Given the description of an element on the screen output the (x, y) to click on. 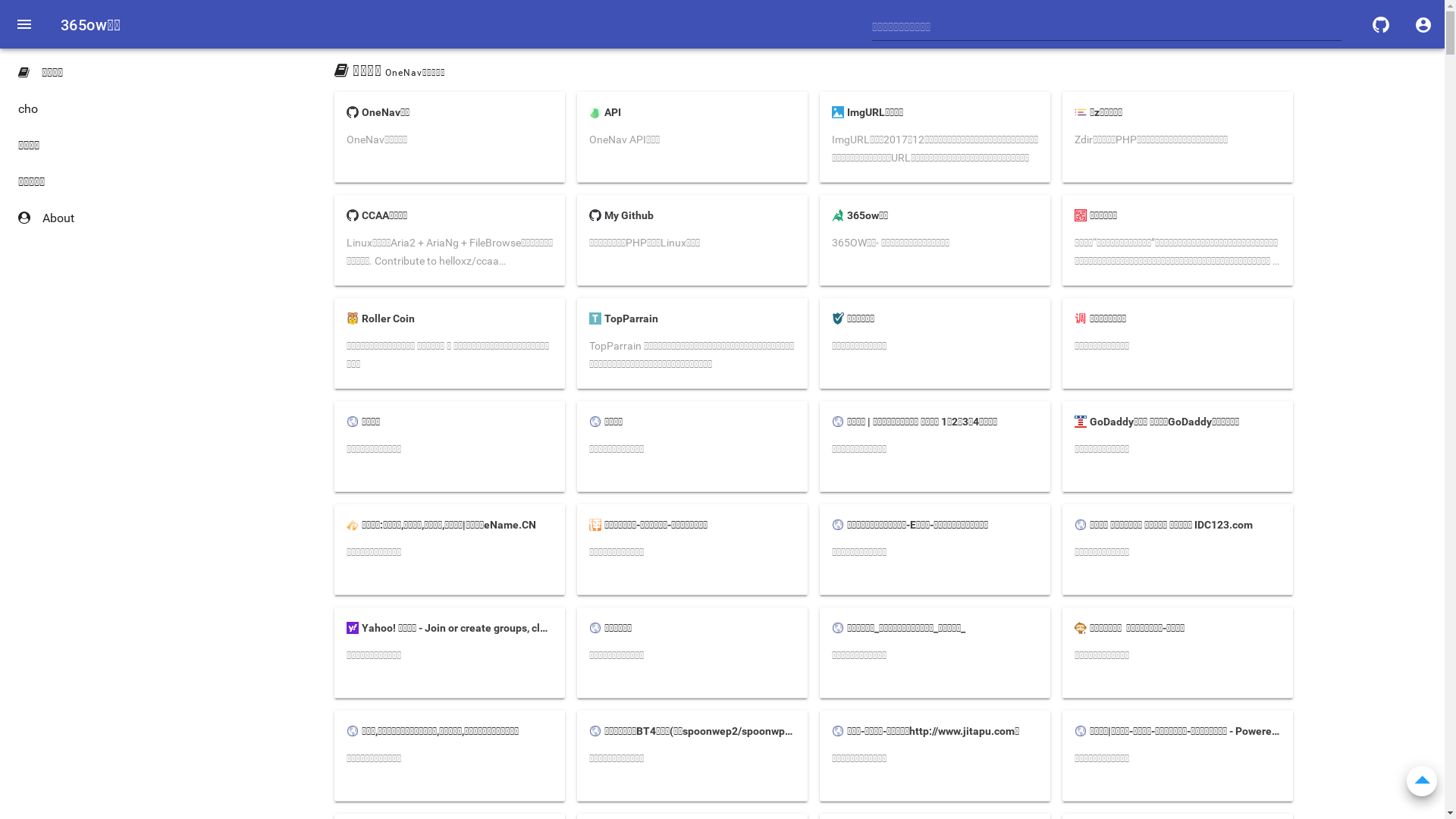
API Element type: text (691, 110)
TopParrain Element type: text (691, 317)
arrow_drop_up Element type: text (1421, 780)
Roller Coin Element type: text (448, 317)
About Element type: text (91, 218)
My Github Element type: text (691, 213)
account_circle Element type: text (1423, 24)
cho Element type: text (91, 109)
